Given the description of an element on the screen output the (x, y) to click on. 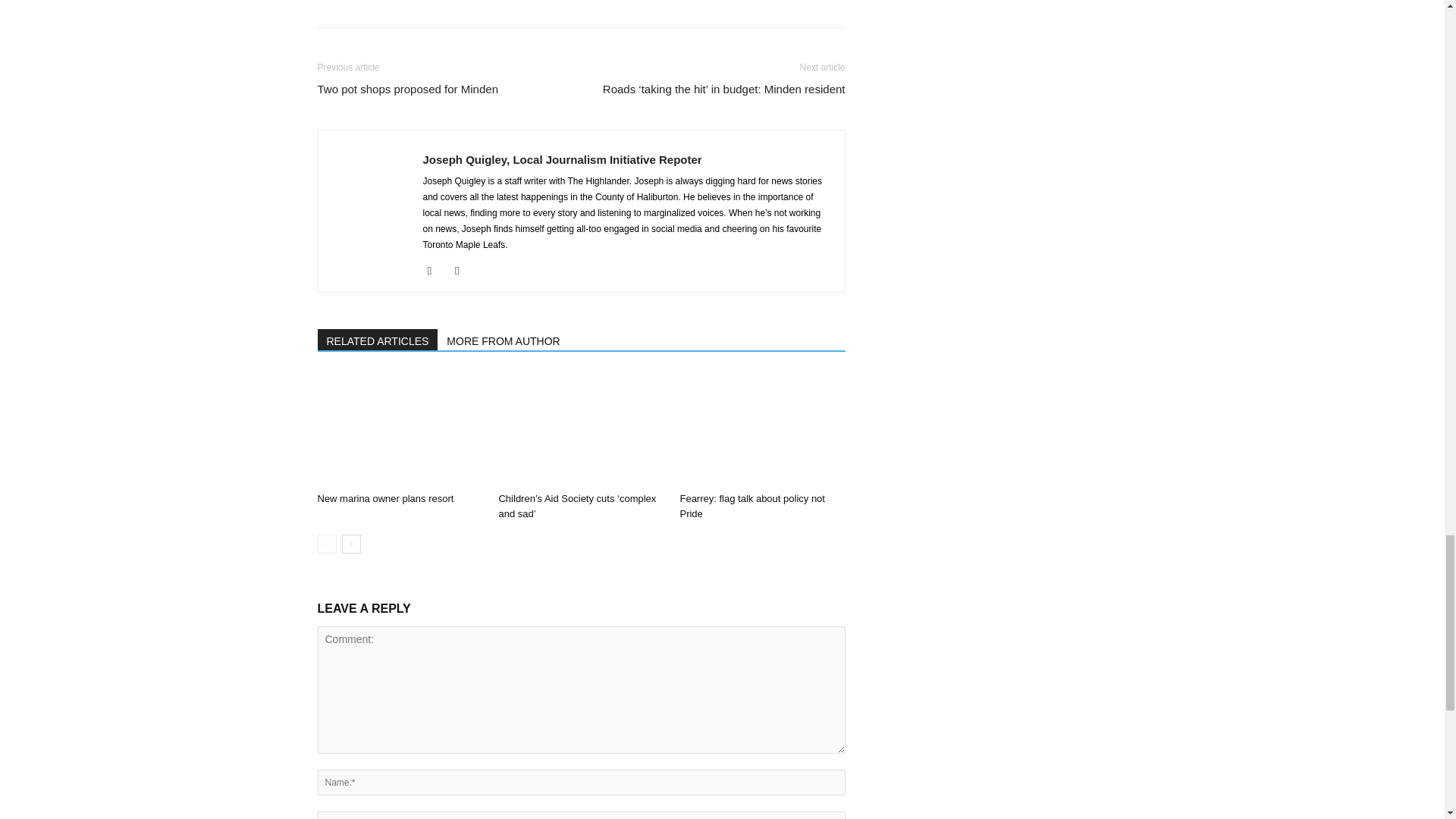
Twitter (462, 270)
Facebook (435, 270)
New marina owner plans resort (399, 429)
